Given the description of an element on the screen output the (x, y) to click on. 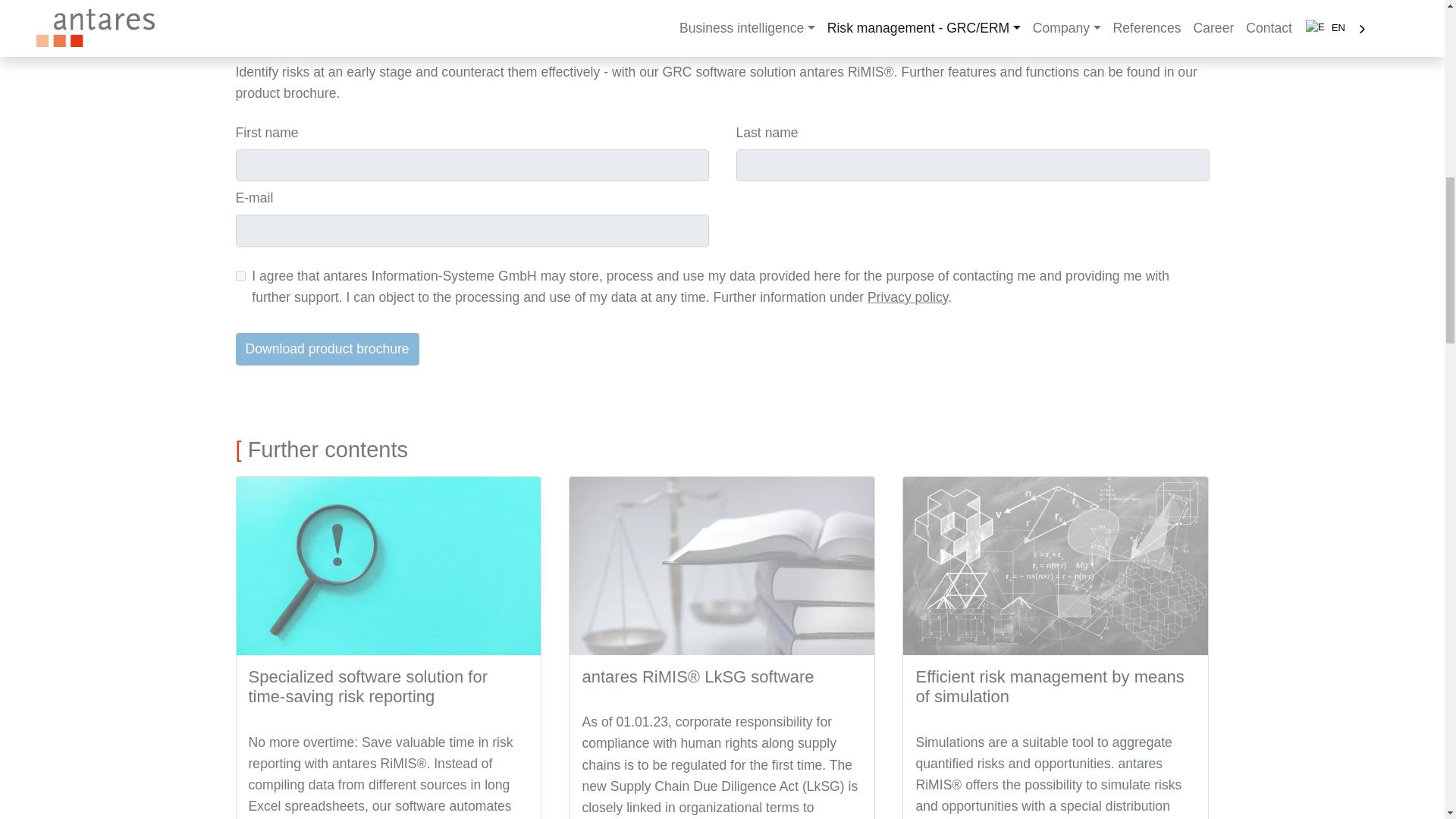
Download product brochure (326, 348)
Privacy policy (907, 296)
